Given the description of an element on the screen output the (x, y) to click on. 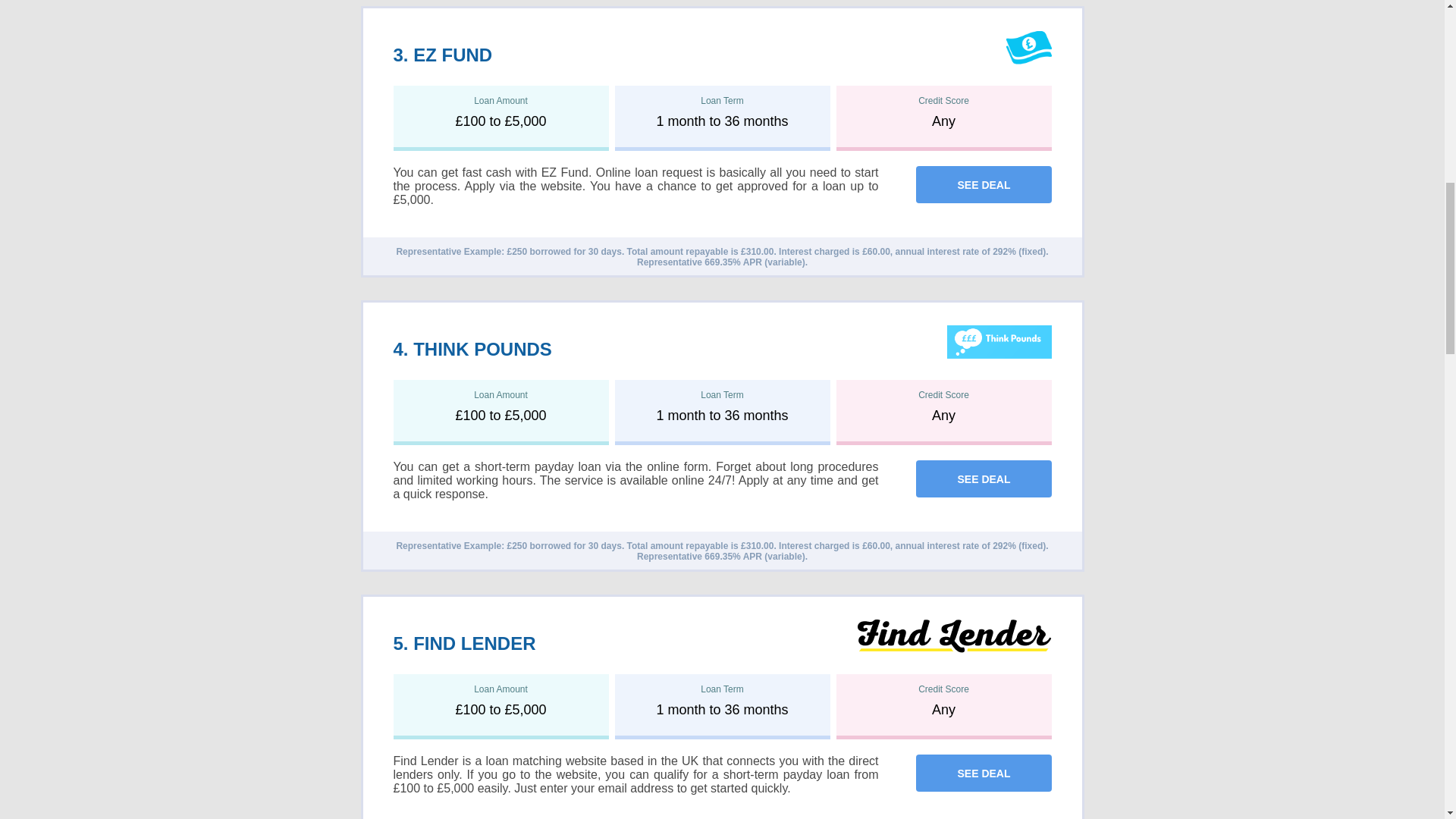
SEE DEAL (983, 184)
SEE DEAL (983, 479)
SEE DEAL (983, 773)
SEE DEAL (983, 184)
SEE DEAL (983, 478)
SEE DEAL (983, 772)
